Given the description of an element on the screen output the (x, y) to click on. 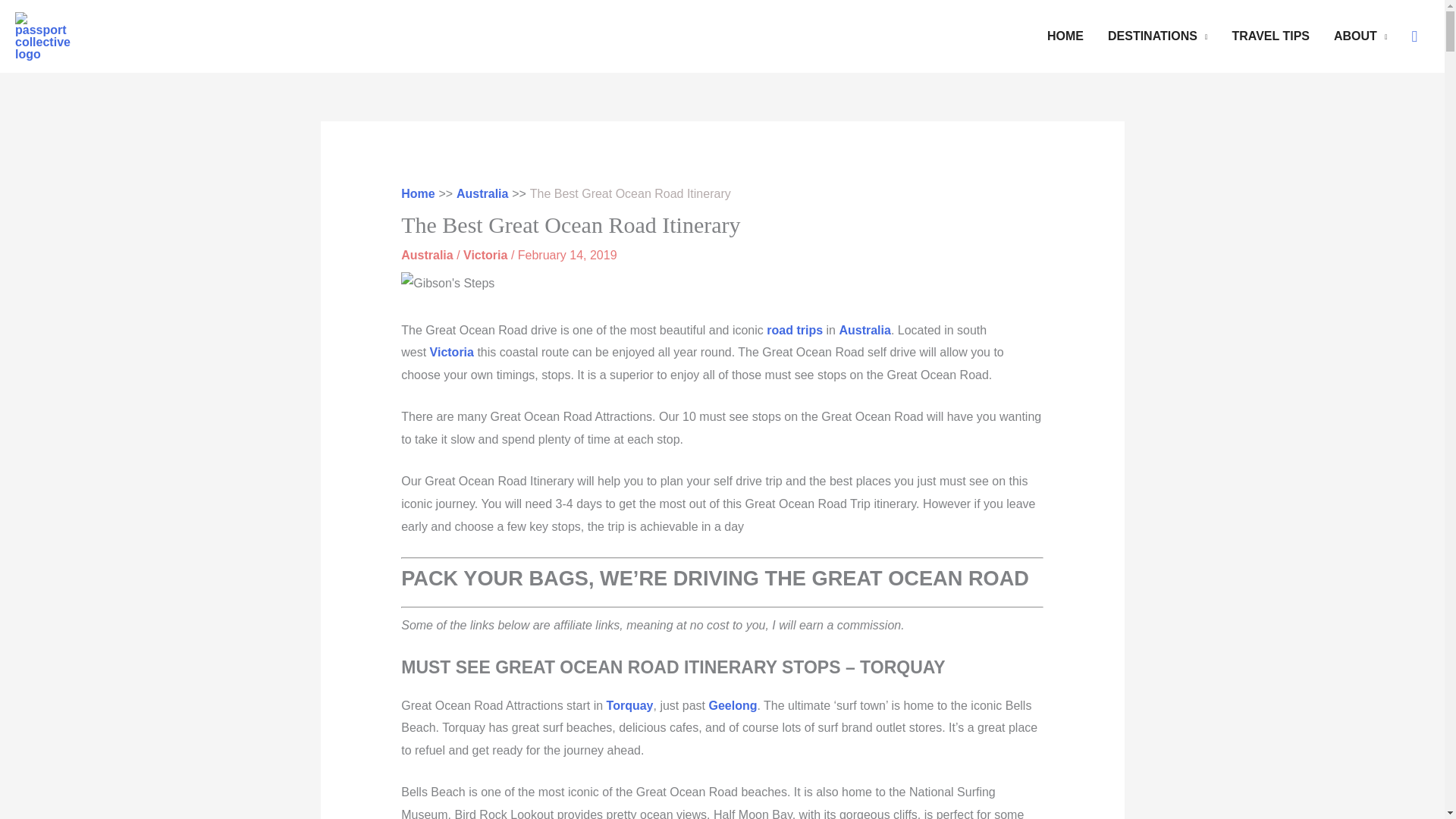
DESTINATIONS (1158, 36)
Home (417, 193)
Australia (426, 254)
Victoria (484, 254)
Australia (482, 193)
Torquay (630, 705)
Australia (863, 329)
road trips (794, 329)
HOME (1065, 36)
Geelong (732, 705)
The Best Great Ocean Road Itinerary 2 (448, 282)
TRAVEL TIPS (1271, 36)
Victoria (451, 351)
ABOUT (1360, 36)
